Given the description of an element on the screen output the (x, y) to click on. 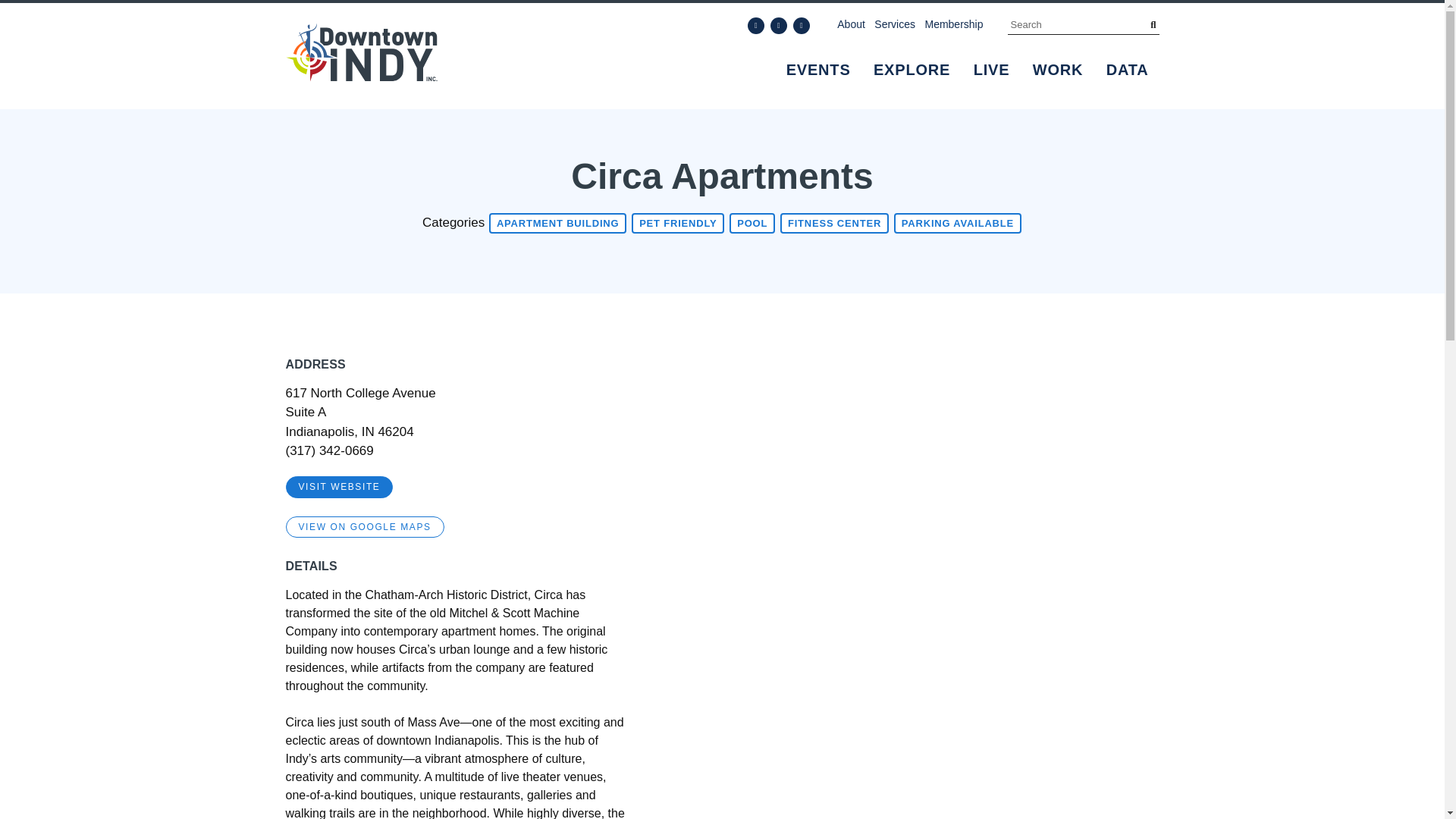
APARTMENT BUILDING (557, 222)
EVENTS (818, 69)
DATA (1127, 69)
Membership (953, 24)
LIVE (991, 69)
WORK (1058, 69)
About (850, 24)
Services (895, 24)
EXPLORE (911, 69)
